Given the description of an element on the screen output the (x, y) to click on. 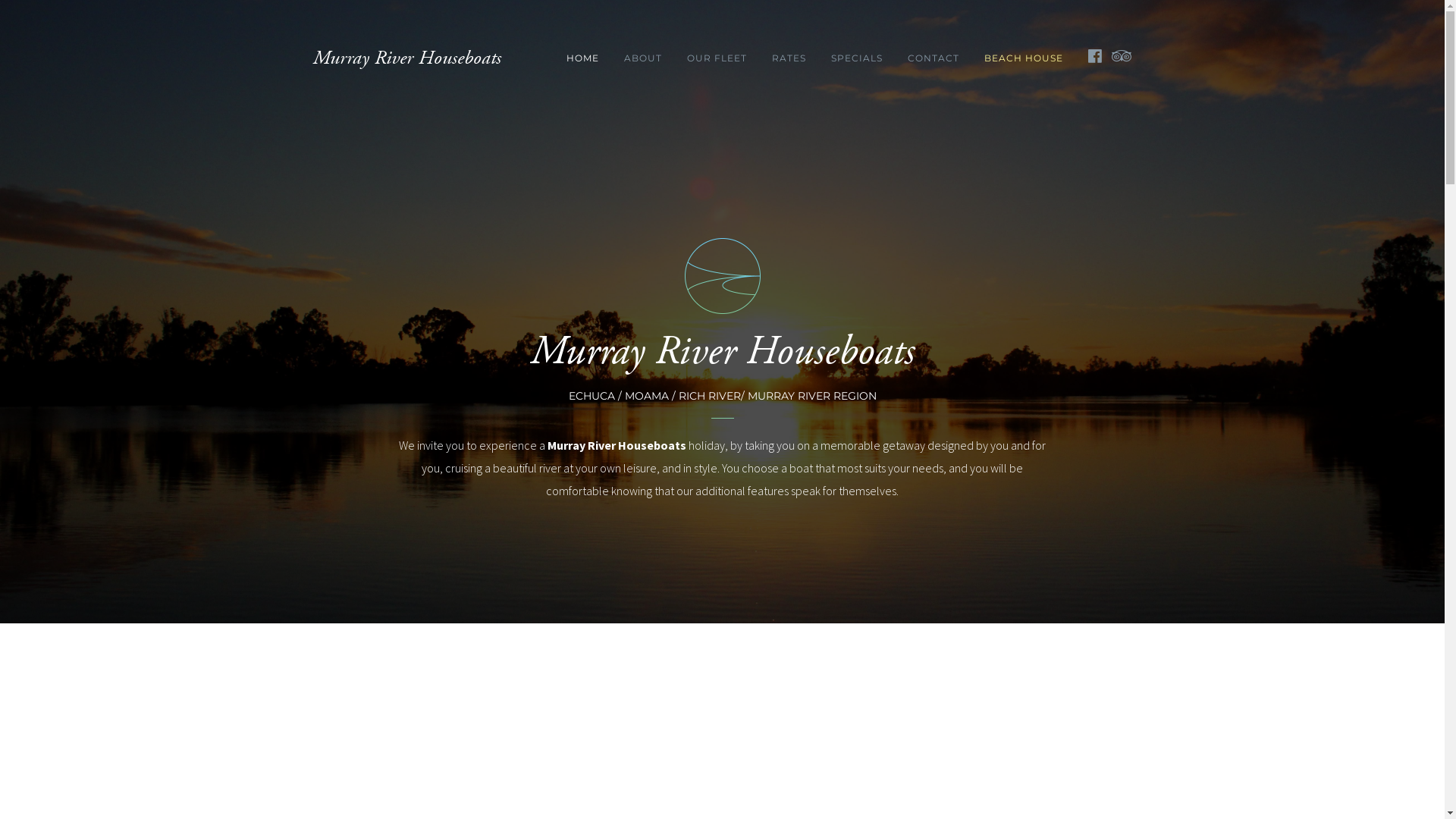
ABOUT Element type: text (642, 58)
BEACH HOUSE Element type: text (1023, 58)
RATES Element type: text (788, 58)
HOME Element type: text (581, 58)
Murray River Houseboats Element type: text (406, 57)
CONTACT Element type: text (932, 58)
SPECIALS Element type: text (856, 58)
murray-icon Element type: hover (721, 275)
OUR FLEET Element type: text (716, 58)
